Given the description of an element on the screen output the (x, y) to click on. 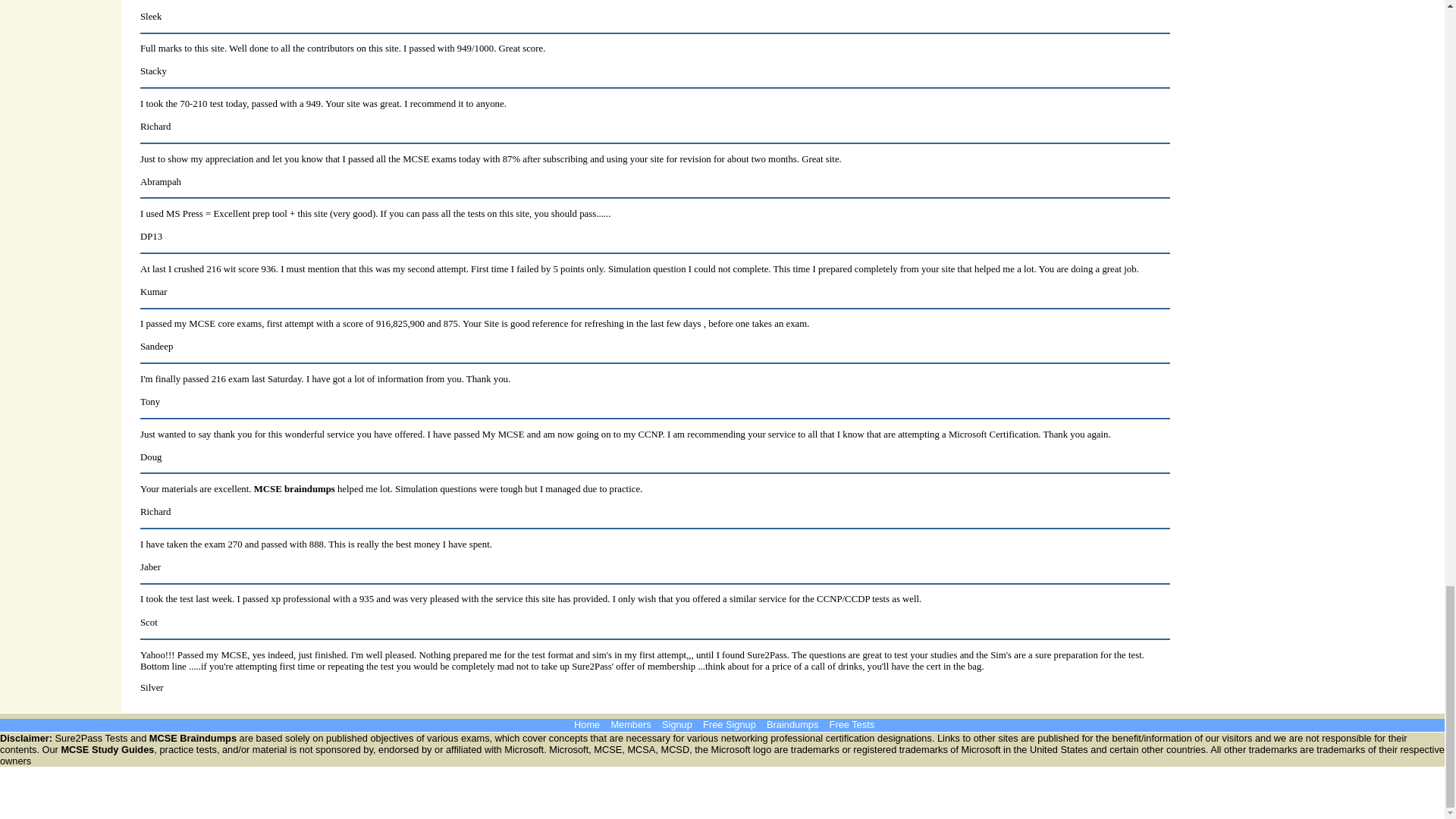
MCSE Free Braindumps Home (586, 724)
Signup (677, 724)
Exam Like Interface of Free MCSE Tests (852, 724)
Members (630, 724)
Free Tests (852, 724)
Braindumps (792, 724)
Free Signup (729, 724)
Home (586, 724)
Signup for MCSE Braindumps (677, 724)
Braindumps (792, 724)
Login to MCSE braindumps Members Area (630, 724)
